Given the description of an element on the screen output the (x, y) to click on. 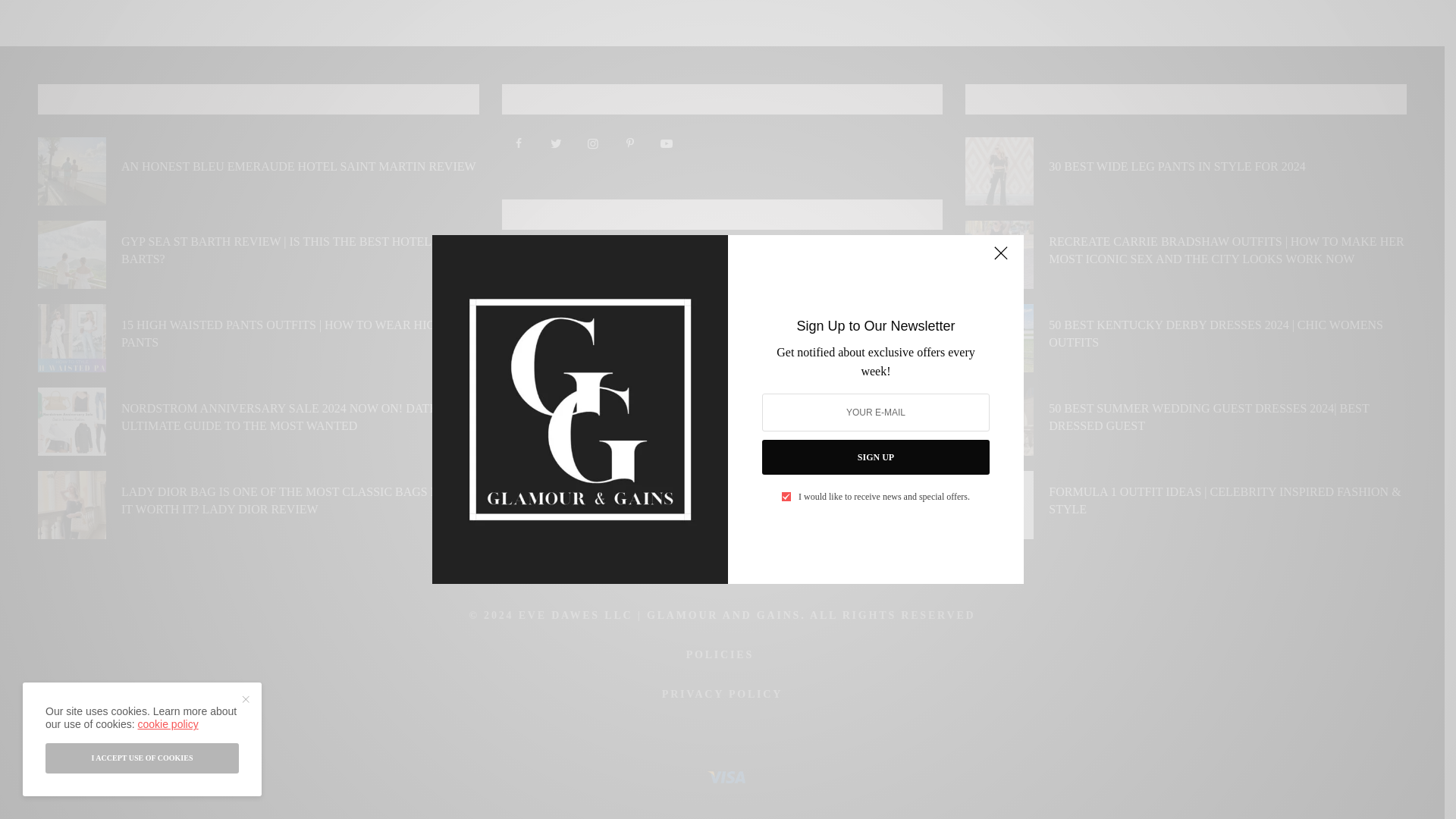
An Honest Bleu Emeraude Hotel Saint Martin Review (298, 166)
30 Best wide leg pants in style for 2024 (1176, 166)
